Given the description of an element on the screen output the (x, y) to click on. 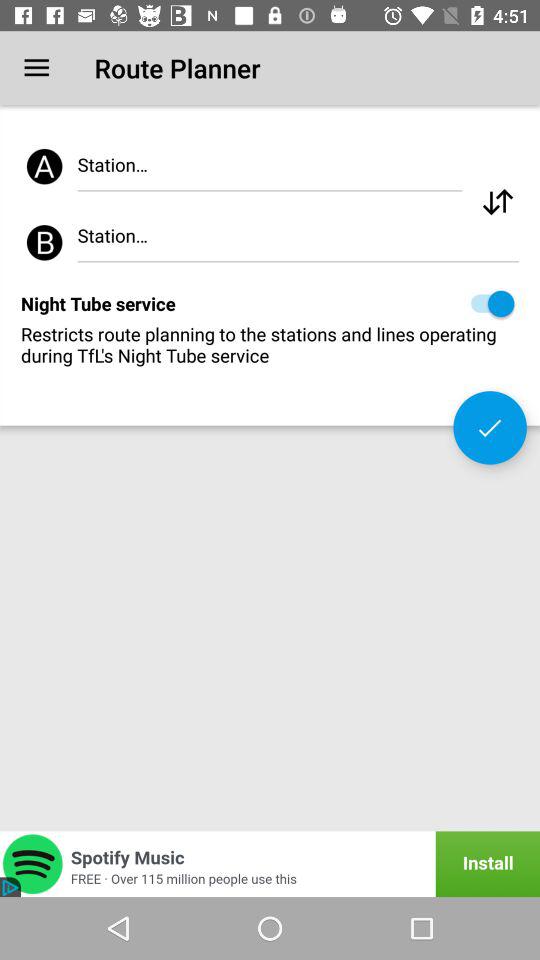
select the icon to the left of route planner icon (36, 68)
